Given the description of an element on the screen output the (x, y) to click on. 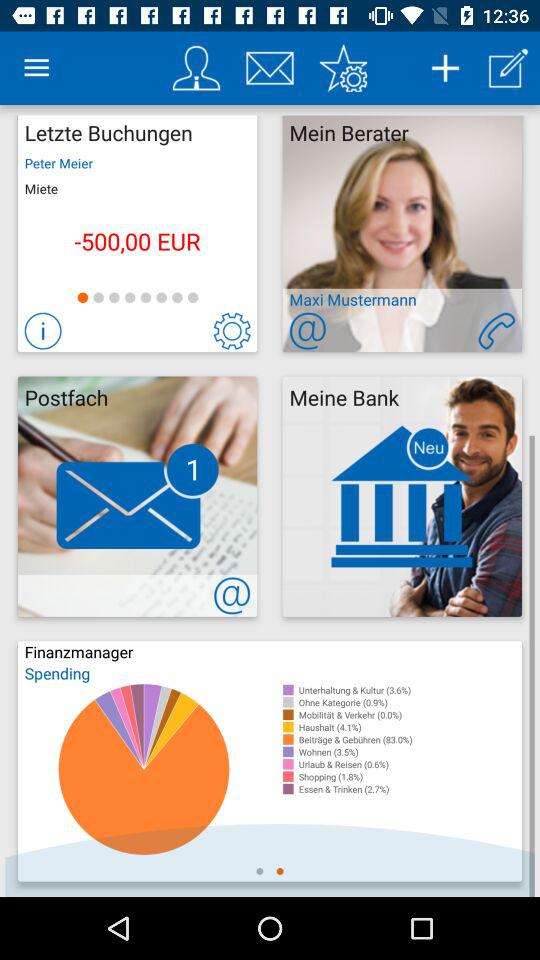
call for info (496, 330)
